Given the description of an element on the screen output the (x, y) to click on. 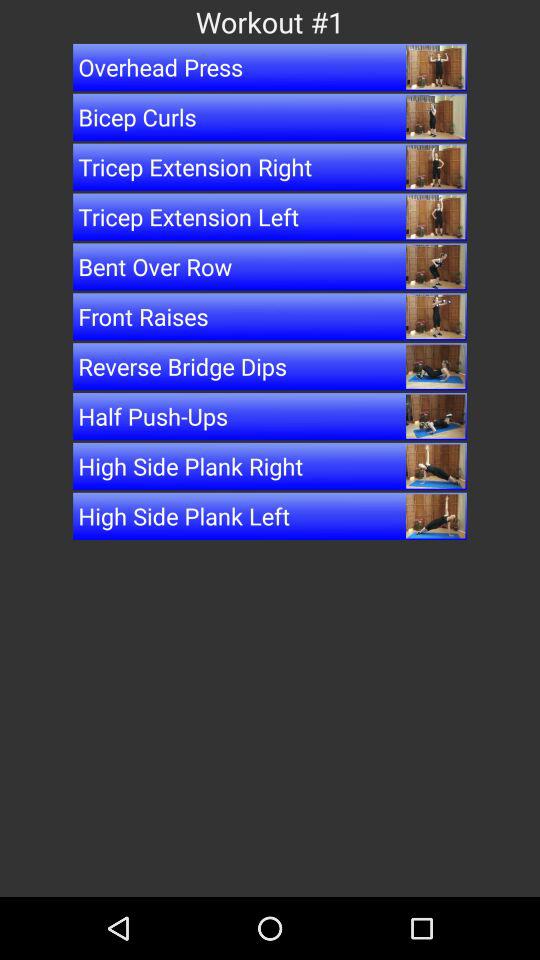
select the front raises (269, 316)
